Given the description of an element on the screen output the (x, y) to click on. 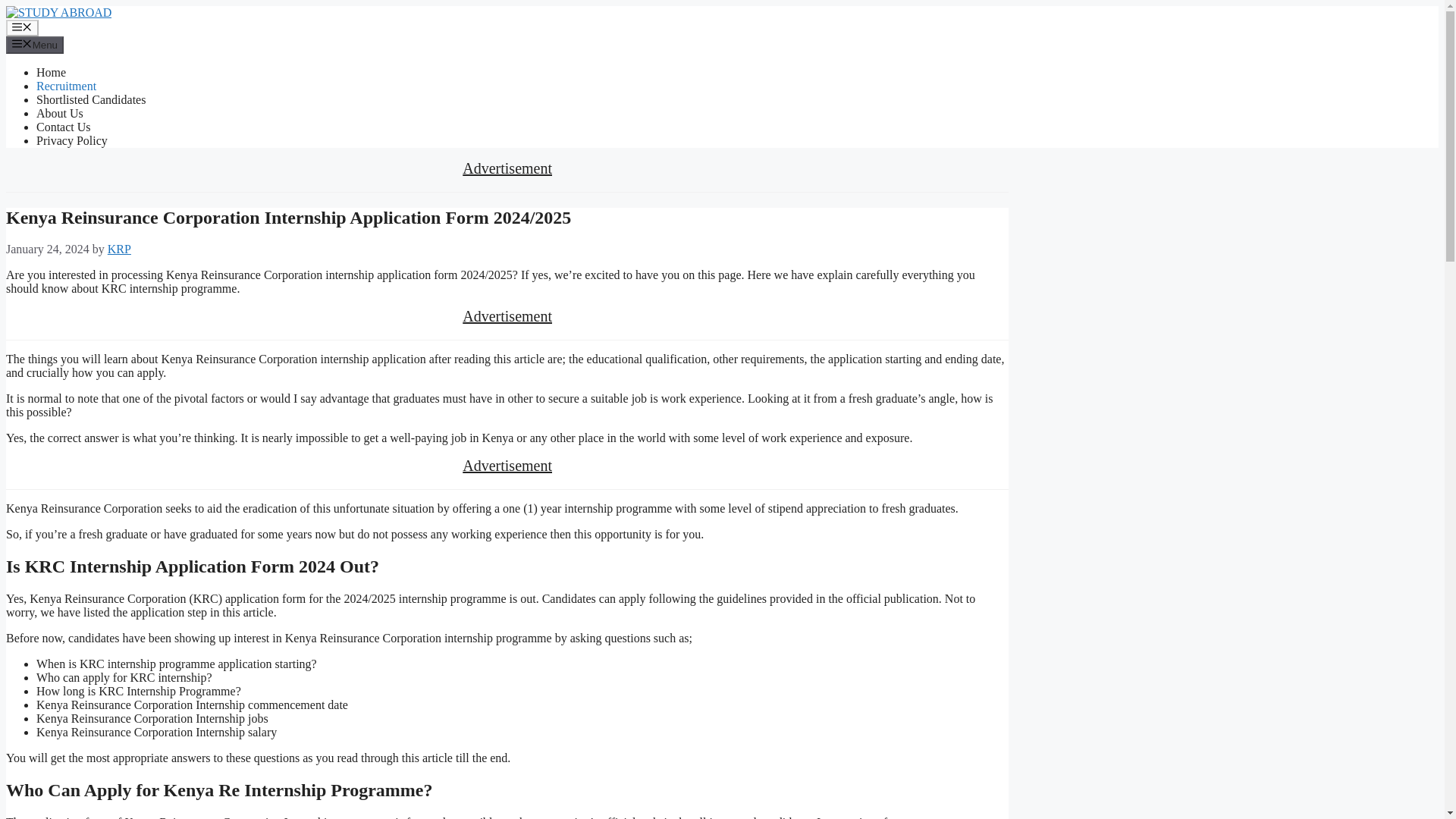
Menu (22, 27)
Contact Us (63, 126)
Shortlisted Candidates (90, 99)
Recruitment (66, 85)
KRP (119, 248)
About Us (59, 113)
Home (50, 72)
Privacy Policy (71, 140)
View all posts by KRP (119, 248)
Menu (34, 44)
